Given the description of an element on the screen output the (x, y) to click on. 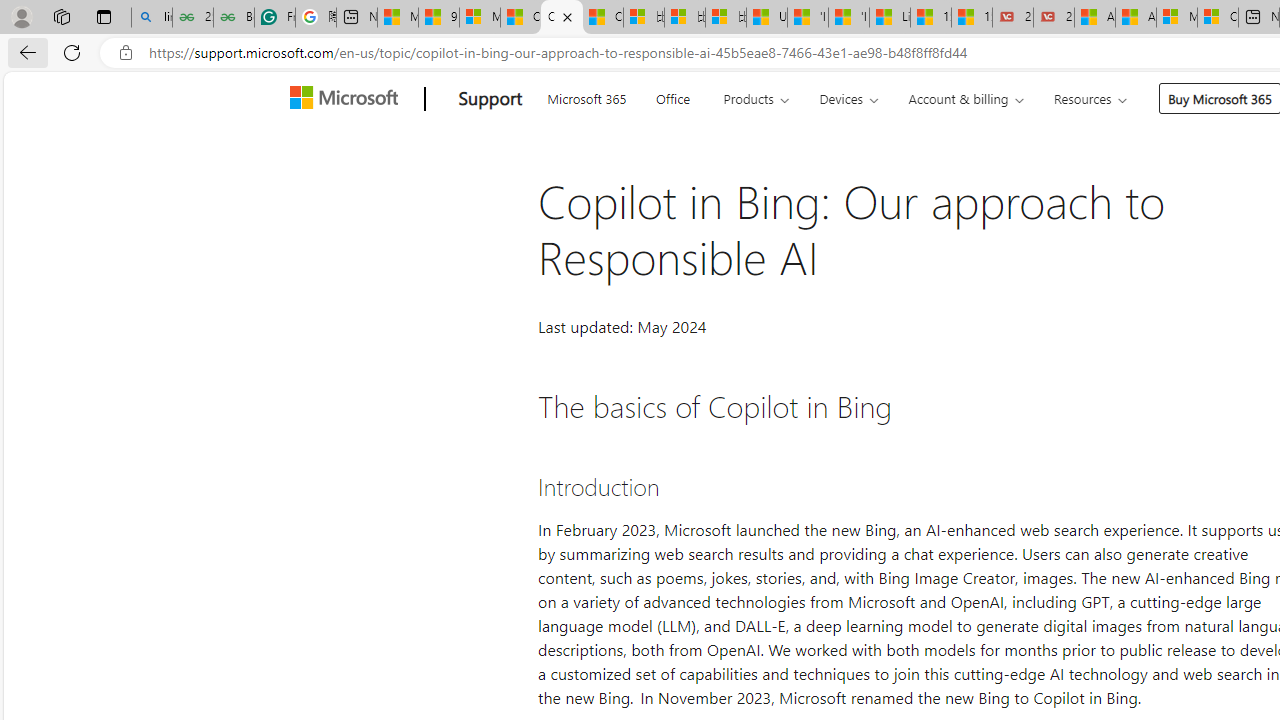
Microsoft 365 (586, 96)
Support (490, 99)
Back (24, 52)
View site information (125, 53)
New tab (356, 17)
Close tab (567, 16)
Microsoft (348, 99)
